Given the description of an element on the screen output the (x, y) to click on. 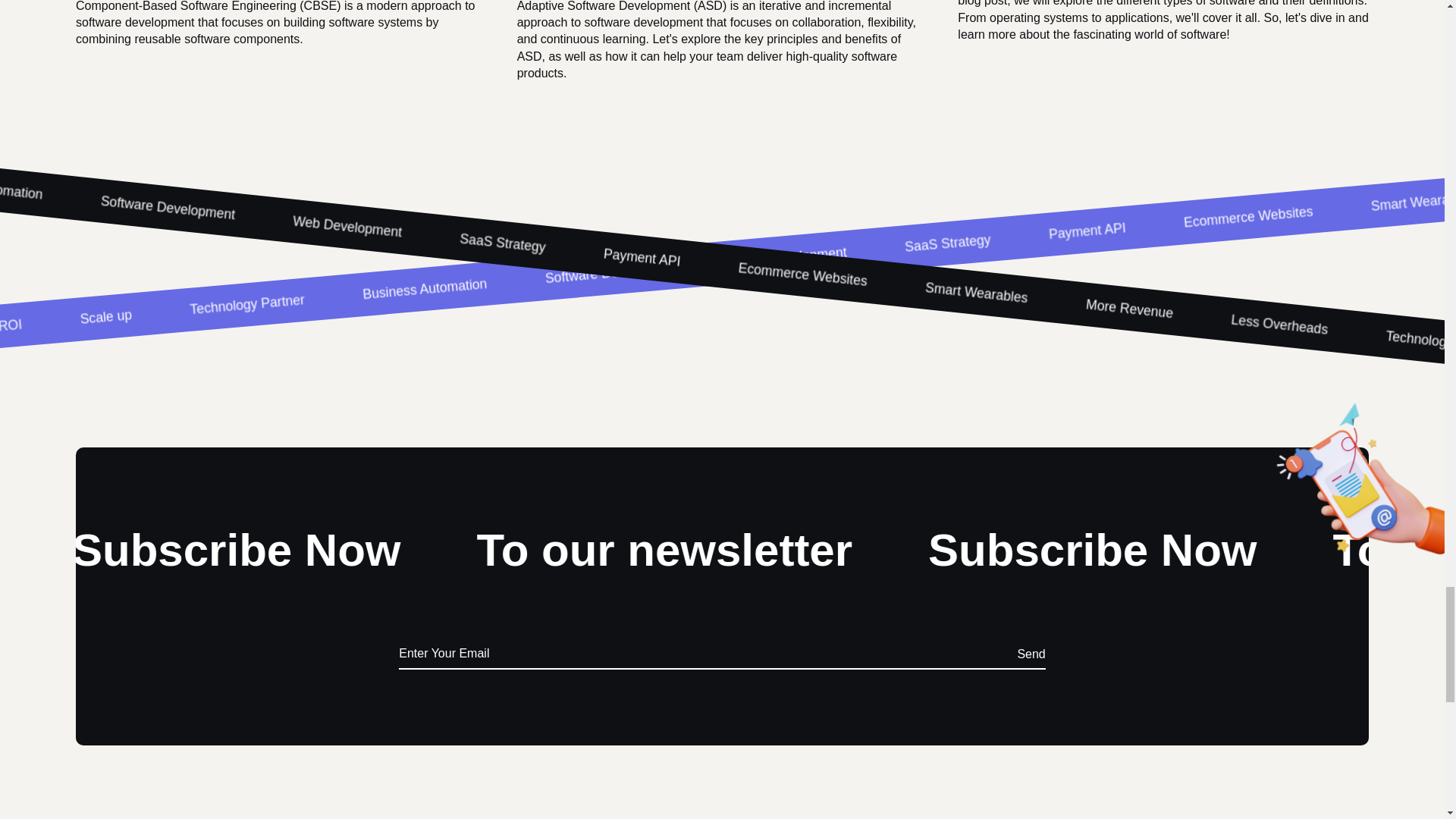
Send (1030, 653)
